Given the description of an element on the screen output the (x, y) to click on. 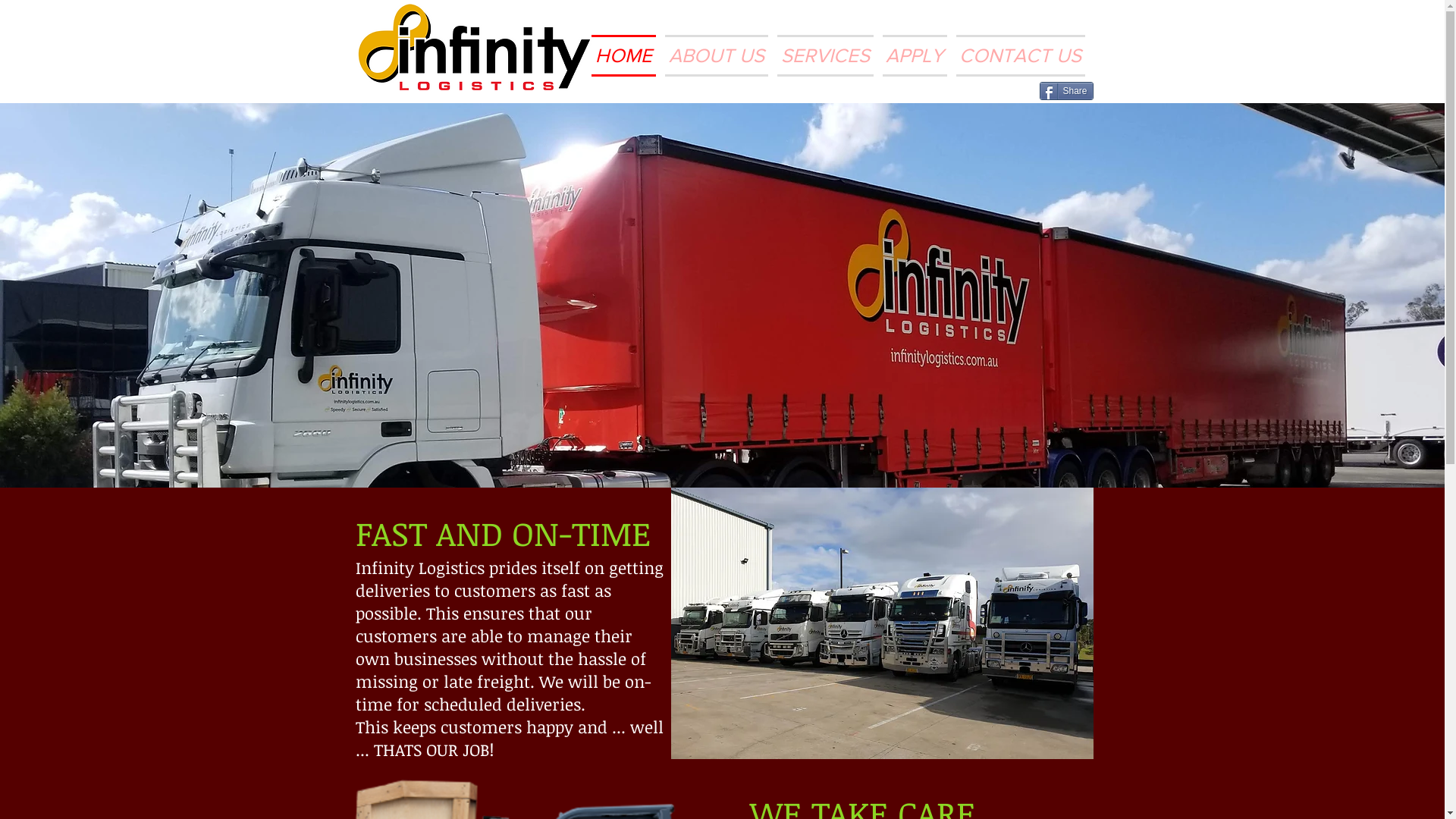
Facebook Like Element type: hover (999, 92)
APPLY Element type: text (914, 55)
SERVICES Element type: text (824, 55)
Share Element type: text (1065, 90)
HOME Element type: text (625, 55)
CONTACT US Element type: text (1017, 55)
ABOUT US Element type: text (715, 55)
